Given the description of an element on the screen output the (x, y) to click on. 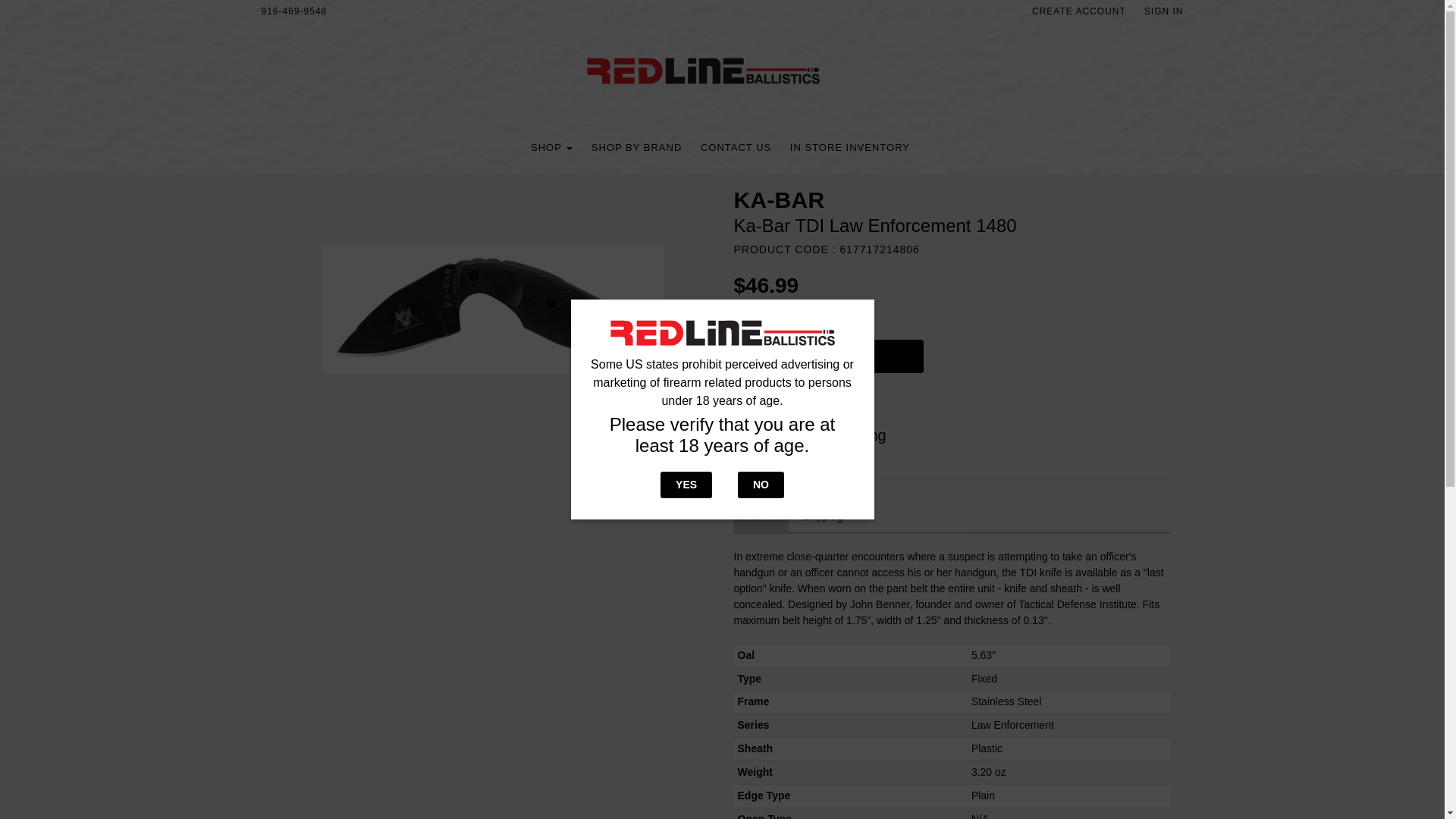
SHOP (551, 147)
IN STORE INVENTORY (850, 147)
CREATE ACCOUNT (1079, 11)
SHOP BY BRAND (636, 147)
ADD TO CART (828, 356)
ADD TO CART (836, 359)
SIGN IN (1163, 11)
Shipping (822, 517)
CONTACT US (735, 147)
Details (761, 517)
916-469-9548 (293, 11)
